Given the description of an element on the screen output the (x, y) to click on. 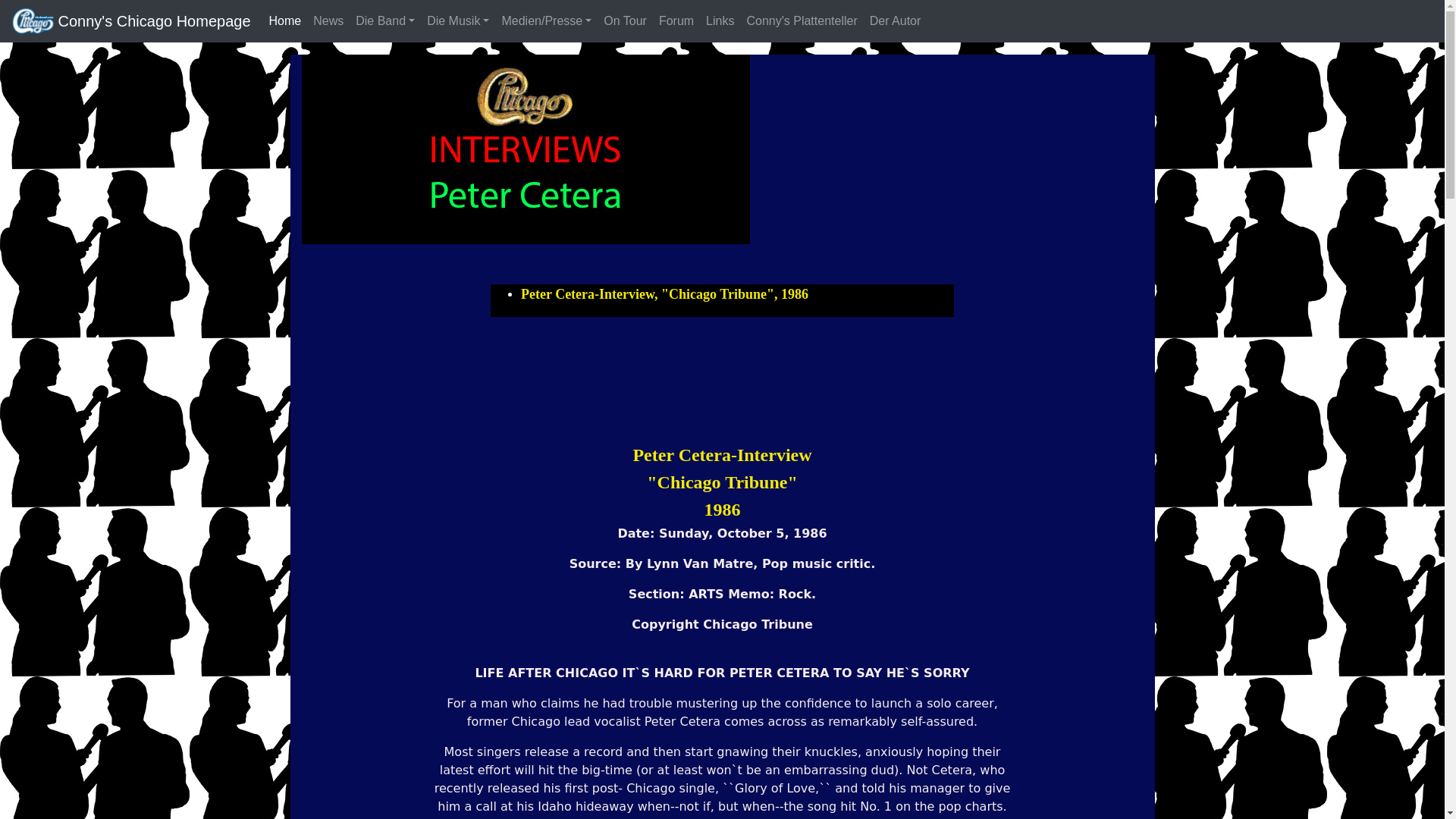
Links (719, 20)
Conny's Plattenteller (801, 20)
Die Musik (457, 20)
News (328, 20)
Die Band (384, 20)
On Tour (624, 20)
 Conny's Chicago Homepage (151, 20)
Forum (676, 20)
